Given the description of an element on the screen output the (x, y) to click on. 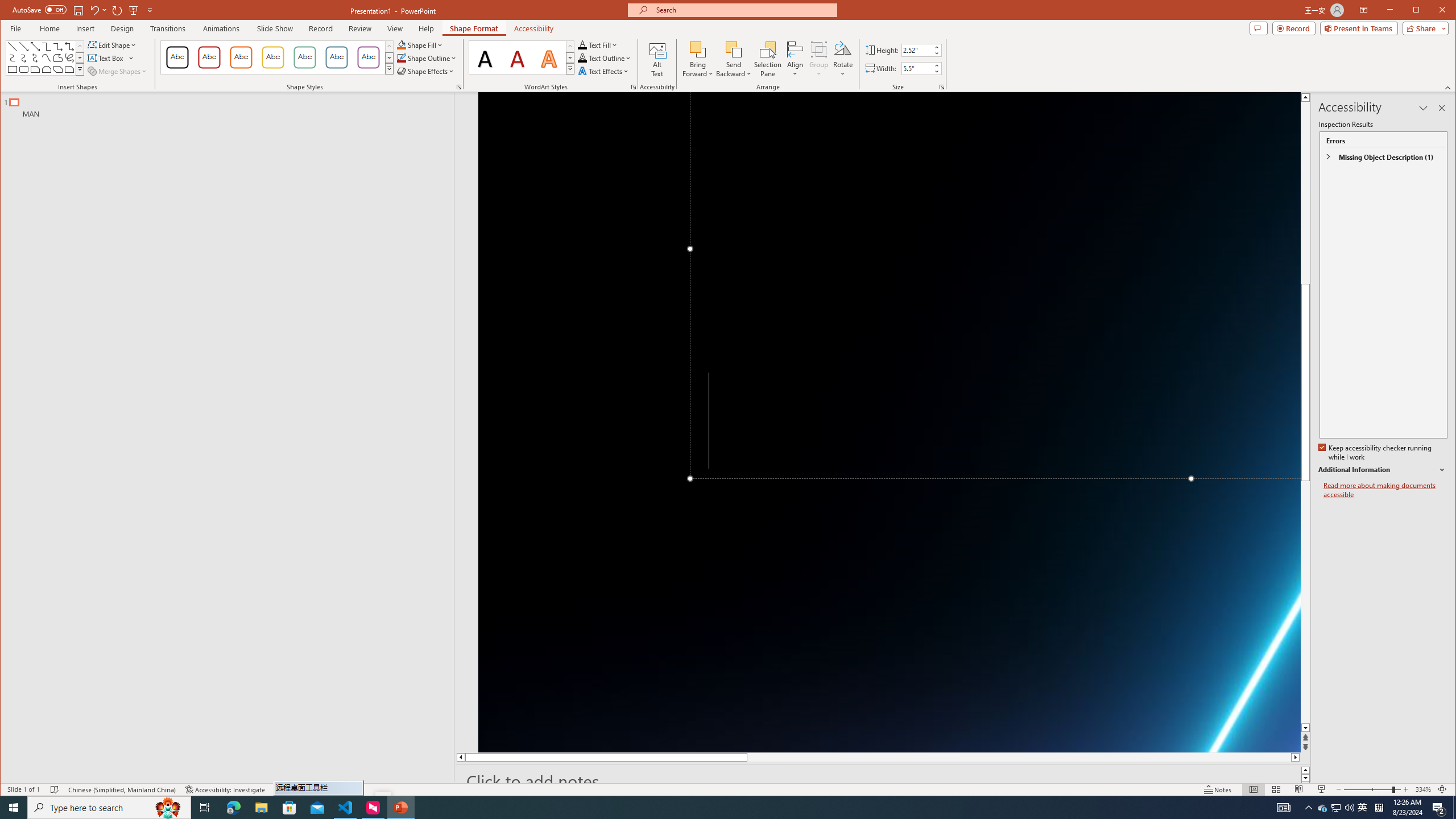
Send Backward (733, 59)
Rectangle: Top Corners Snipped (46, 69)
Colored Outline - Blue-Gray, Accent 5 (336, 57)
Text Outline (604, 57)
Colored Outline - Green, Accent 4 (304, 57)
